Given the description of an element on the screen output the (x, y) to click on. 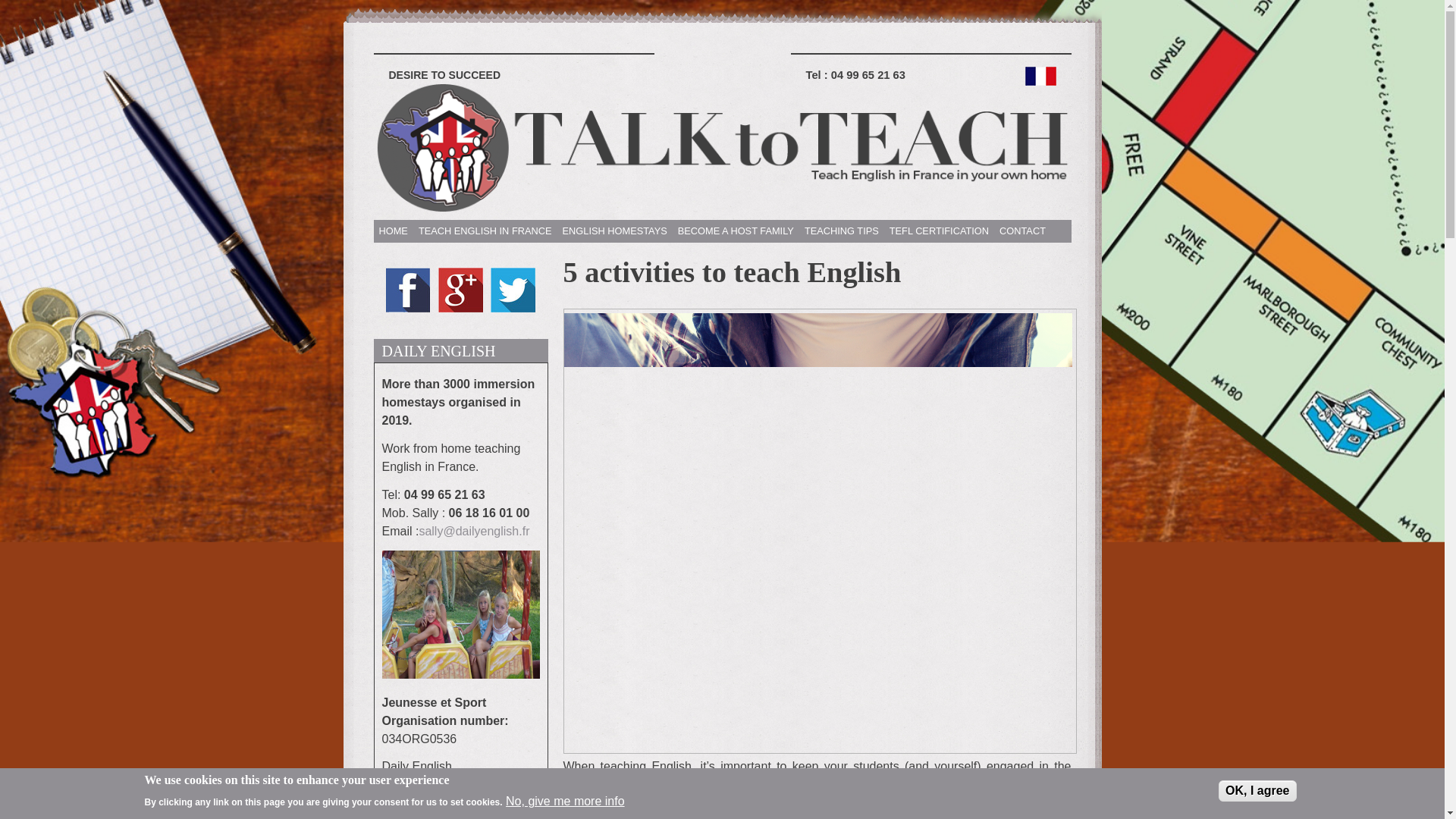
Tel : 04 99 65 21 63 (854, 74)
Share on Facebook (408, 309)
TEFL CERTIFICATION (938, 231)
BECOME A HOST FAMILY (735, 231)
ENGLISH HOMESTAYS (614, 231)
CONTACT (1022, 231)
Share this on Twitter (512, 309)
HOME (392, 231)
TEACH ENGLISH IN FRANCE (485, 231)
